Given the description of an element on the screen output the (x, y) to click on. 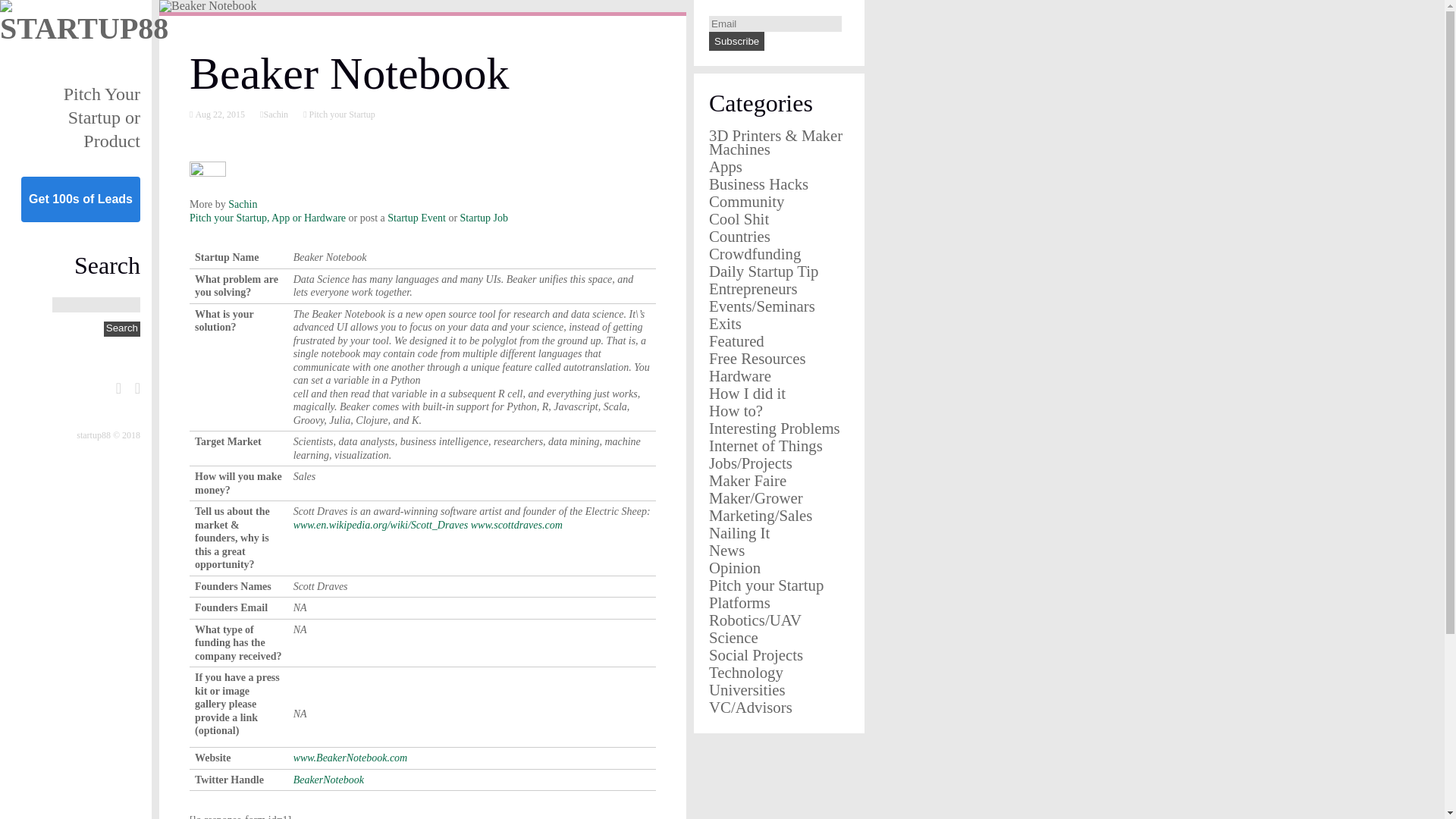
Aug 22, 2015 (218, 113)
Posts by Sachin (242, 204)
Get 100s of Leads (80, 198)
www.scottdraves.com (516, 523)
Free Resources (757, 357)
www.BeakerNotebook.com (350, 757)
Subscribe (736, 40)
Sachin (275, 113)
Apps (725, 166)
Business Hacks (758, 183)
